Given the description of an element on the screen output the (x, y) to click on. 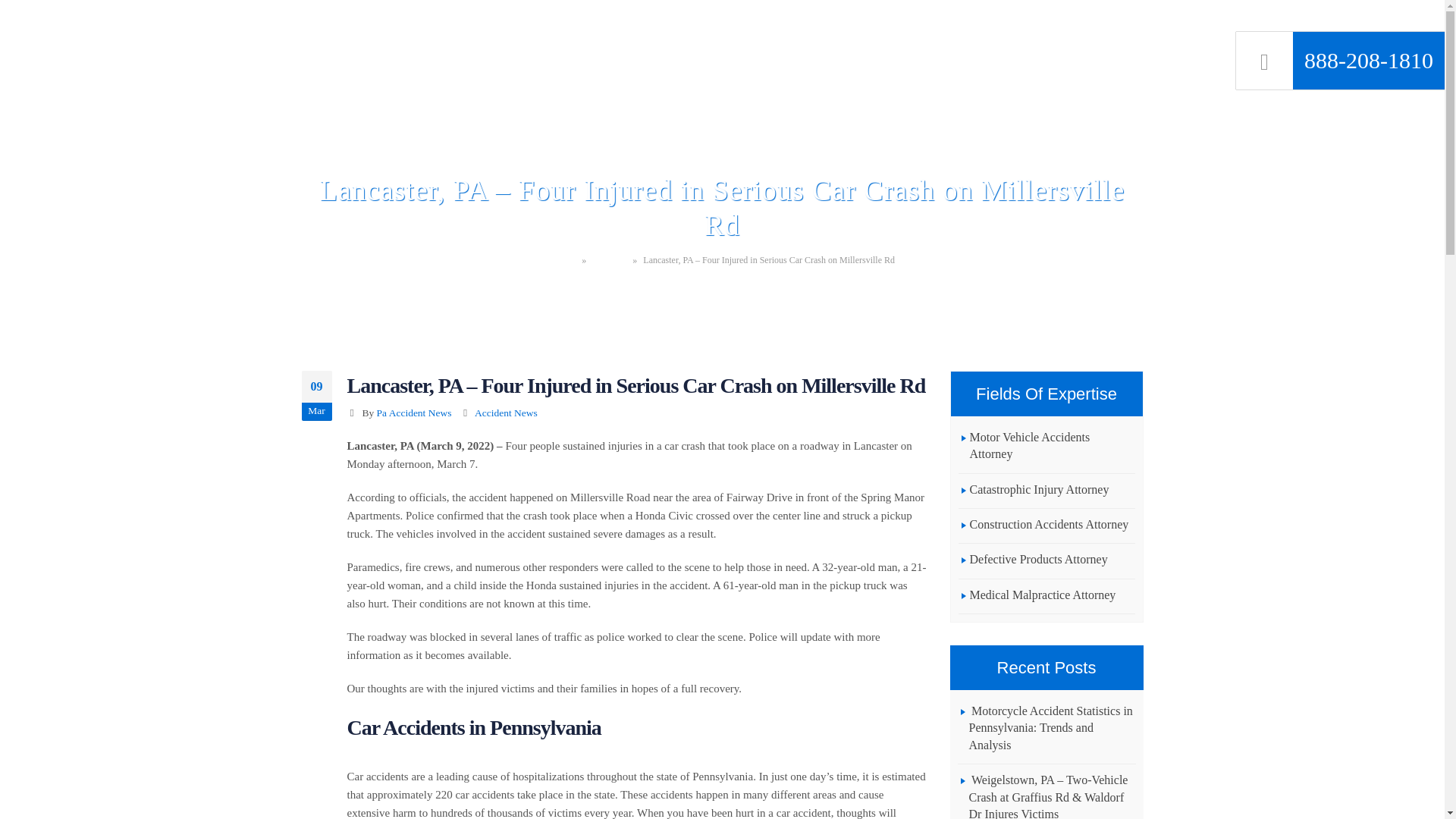
Attorney Profiles (646, 28)
Home (561, 28)
Our Blog (1029, 28)
Contact Us (1109, 28)
FAQ (830, 28)
Posts by Pa Accident News (414, 412)
Our Blog (609, 259)
Practice Areas (756, 28)
Home (564, 259)
